Given the description of an element on the screen output the (x, y) to click on. 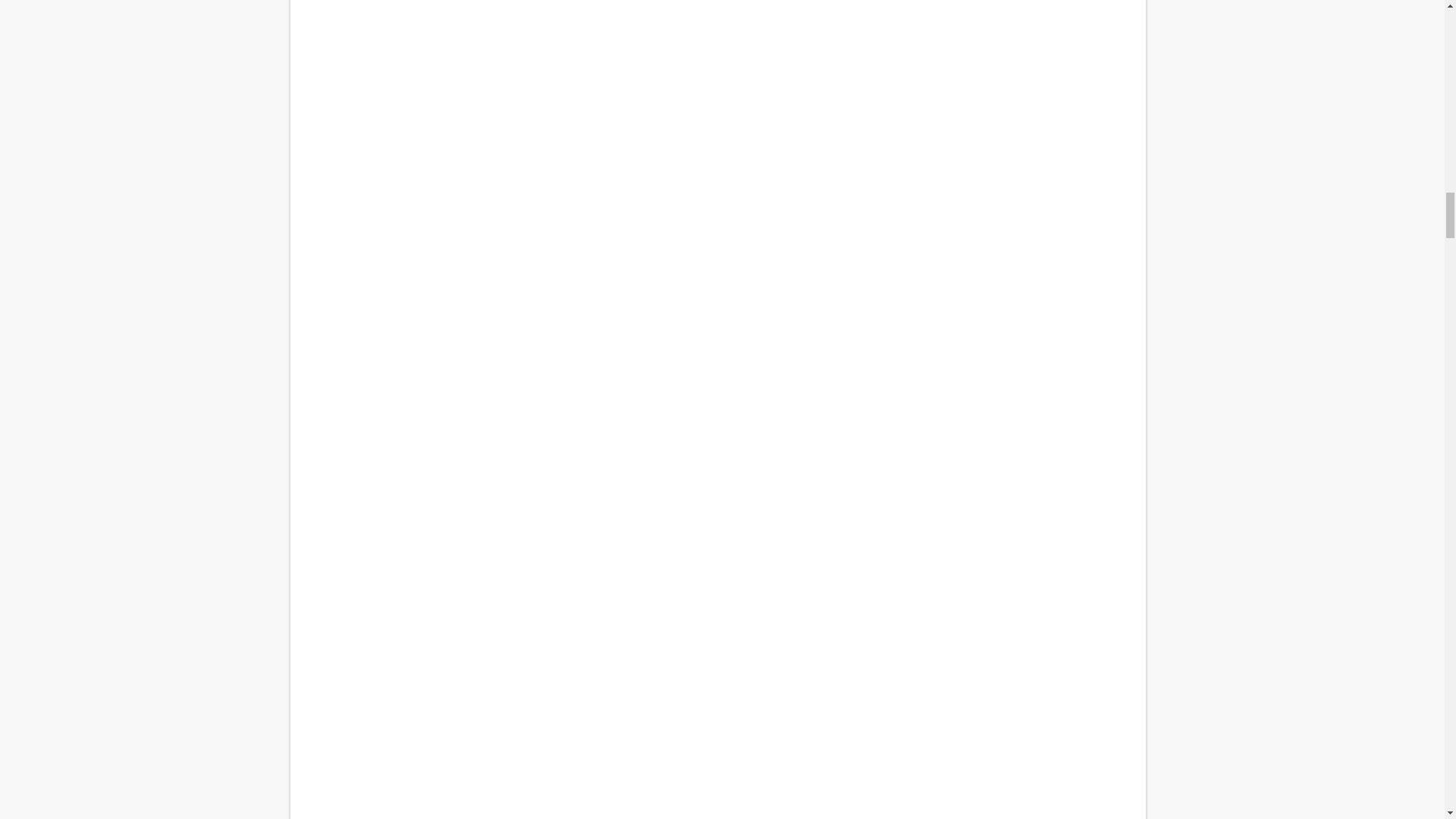
Commonly confused words (717, 208)
